Given the description of an element on the screen output the (x, y) to click on. 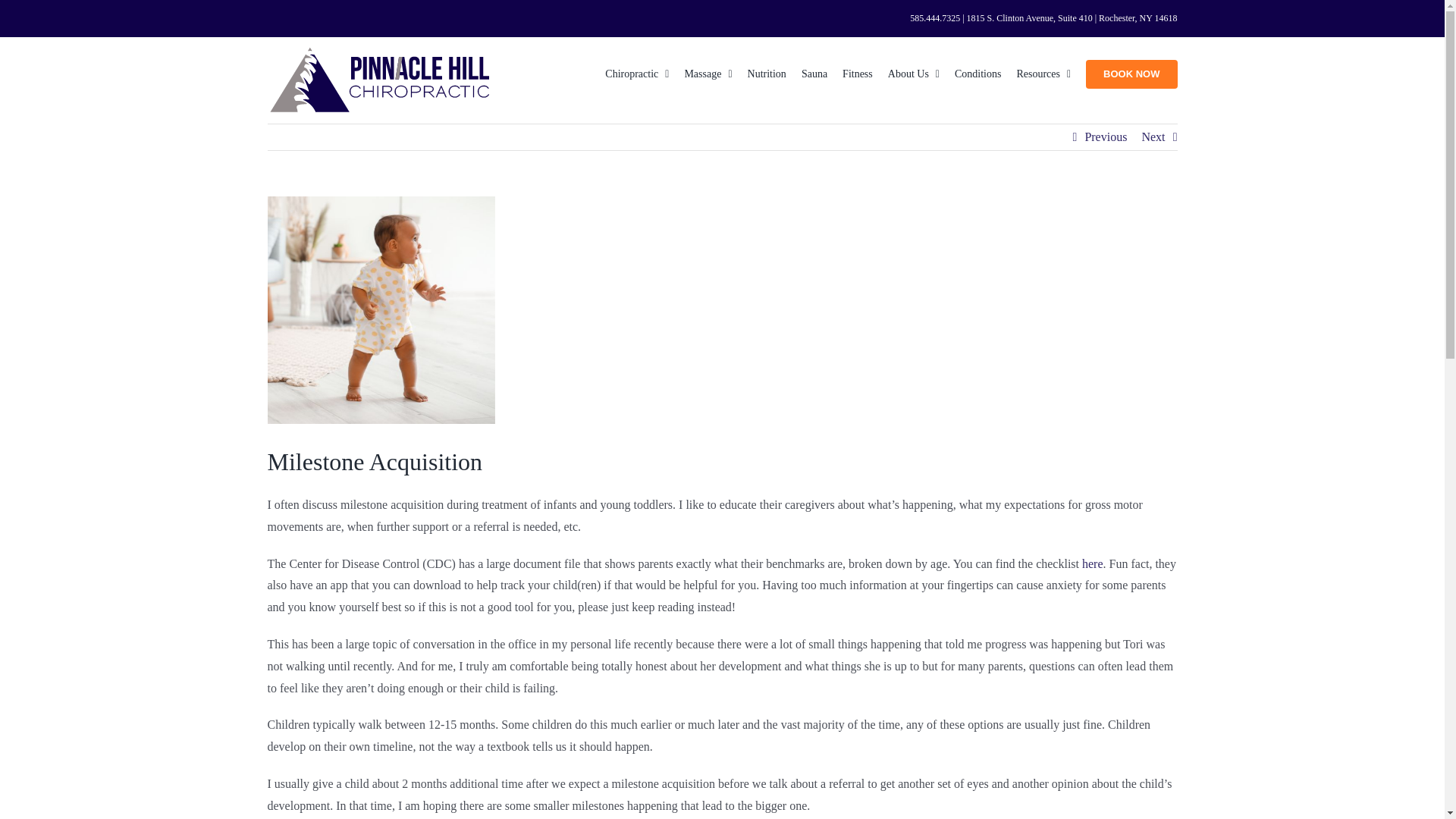
585.444.7325 (934, 18)
Chiropractic (636, 72)
Previous (1105, 136)
Milestone Acquisition (380, 310)
BOOK NOW (1131, 72)
Next (1152, 136)
View Larger Image (380, 310)
here (1092, 563)
